Given the description of an element on the screen output the (x, y) to click on. 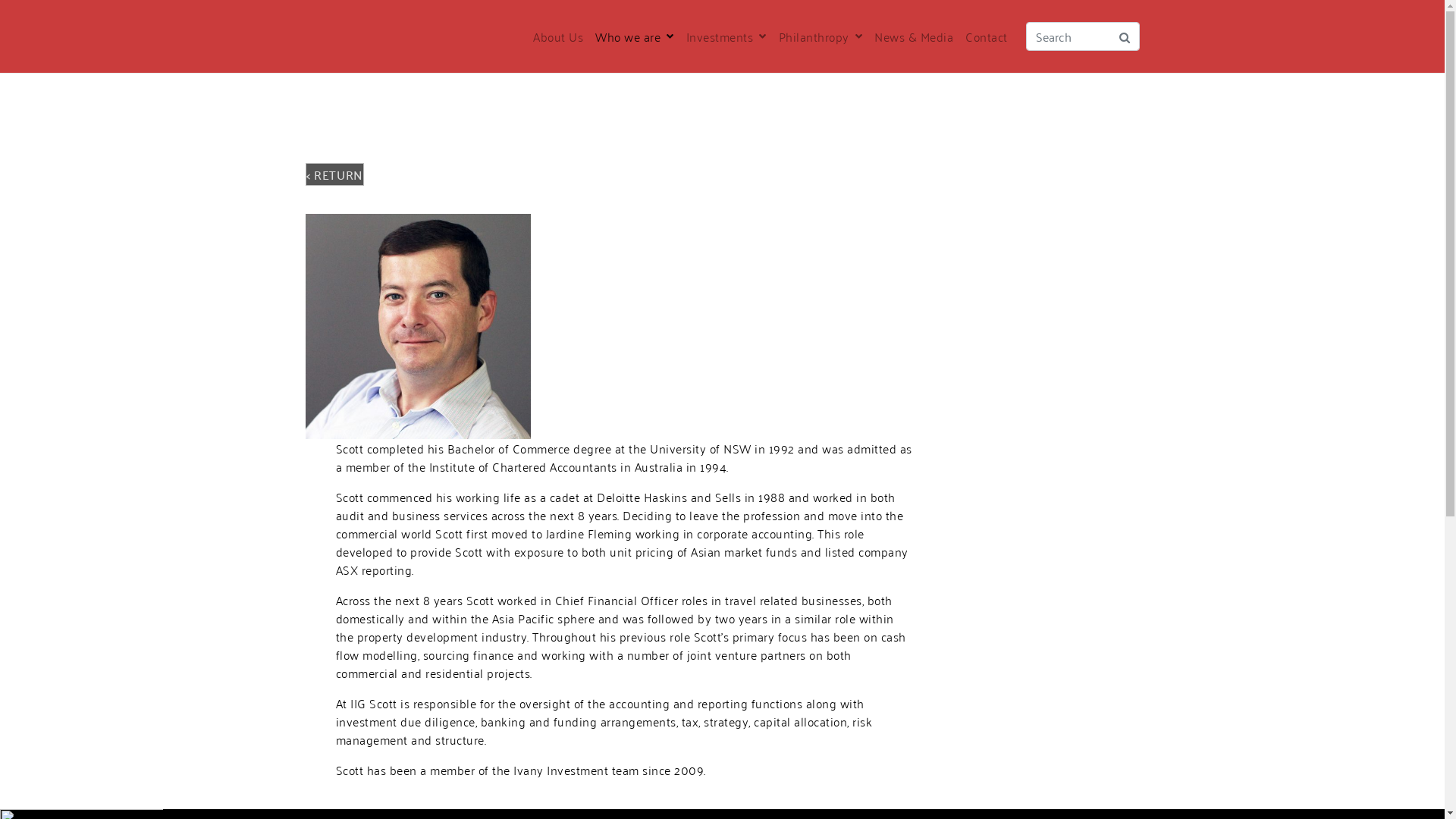
News & Media Element type: text (913, 36)
Philanthropy Element type: text (819, 36)
< RETURN Element type: text (334, 174)
Investments Element type: text (725, 36)
Who we are Element type: text (634, 36)
About Us Element type: text (558, 36)
Contact Element type: text (986, 36)
